Given the description of an element on the screen output the (x, y) to click on. 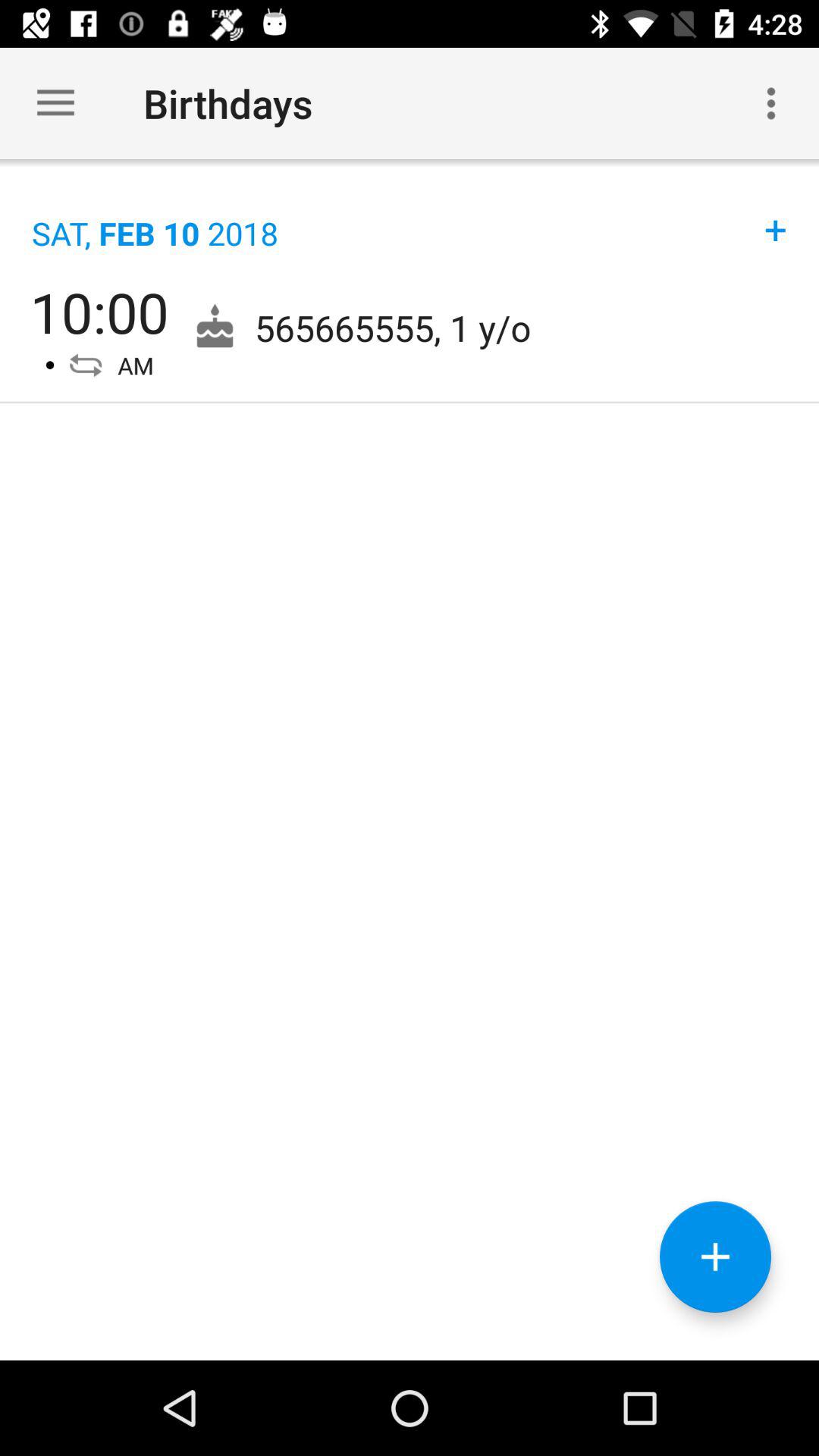
press + item (775, 214)
